Given the description of an element on the screen output the (x, y) to click on. 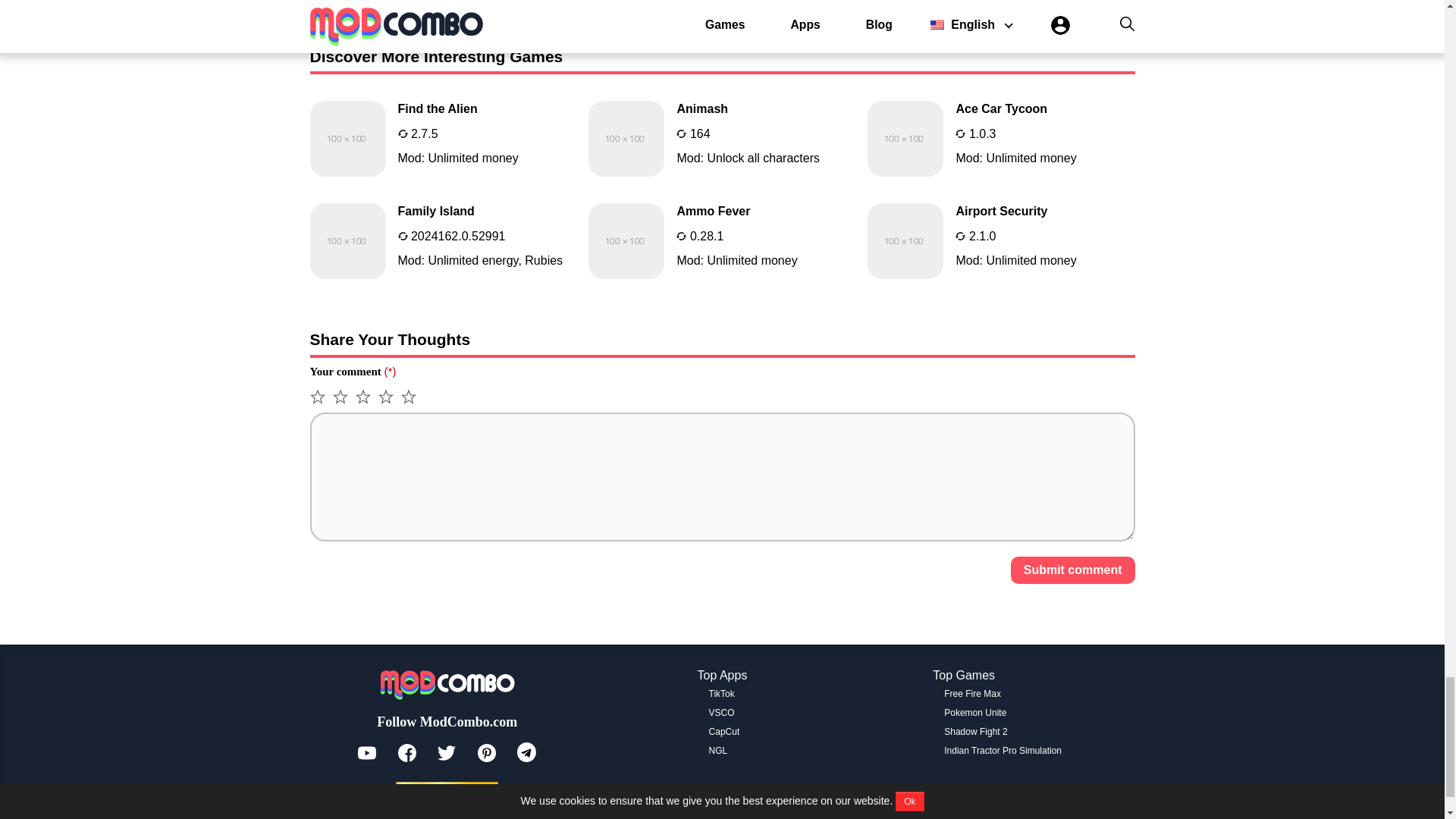
Family Island (722, 138)
Shadow Fight 2 (442, 241)
DMCA.com Protection Status (975, 731)
Free Fire Max (446, 792)
Ace Car Tycoon (972, 693)
Animash (1000, 138)
Ammo Fever (722, 138)
Pokemon Unite (722, 241)
